Given the description of an element on the screen output the (x, y) to click on. 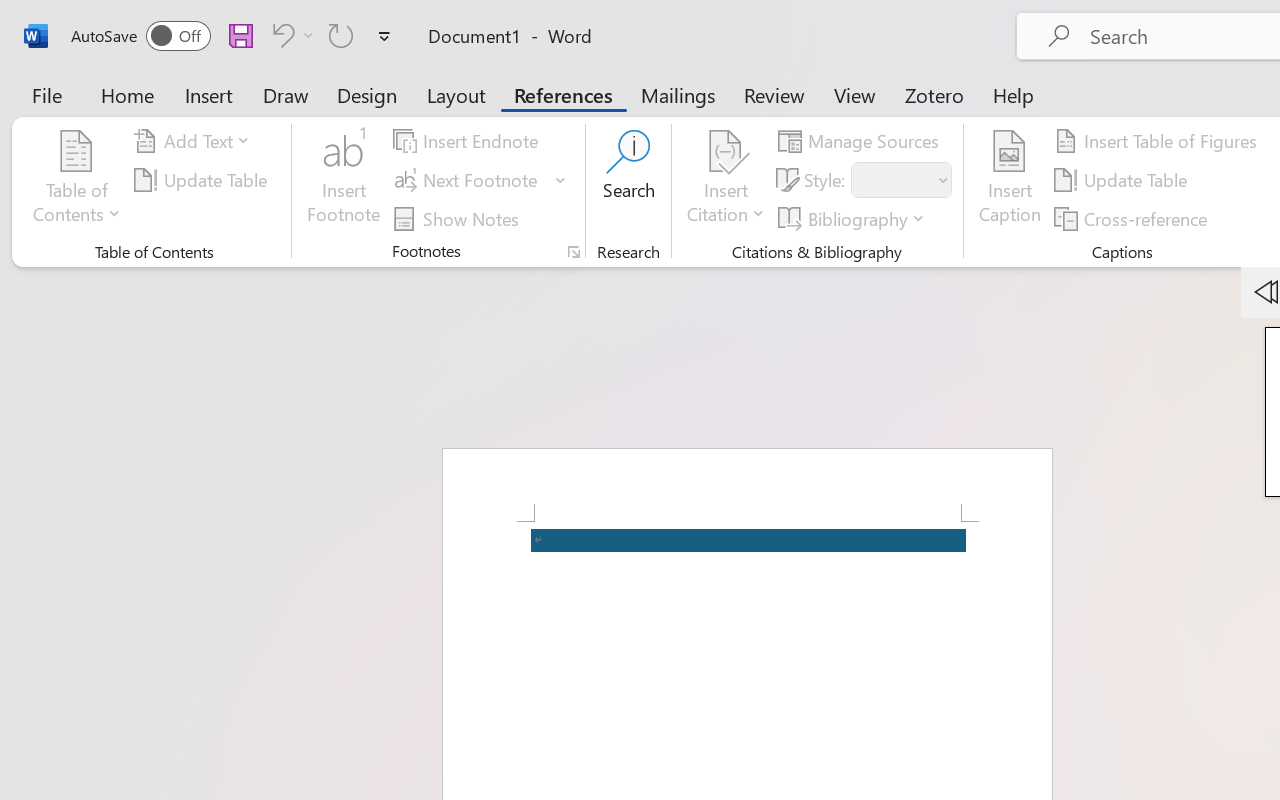
Next Footnote (468, 179)
Manage Sources... (861, 141)
Show Notes (459, 218)
Insert Caption... (1009, 180)
Insert Endnote (468, 141)
Style (901, 179)
Insert Citation (726, 179)
Footnote and Endnote Dialog... (573, 252)
Insert Footnote (344, 179)
Update Table (1124, 179)
